Given the description of an element on the screen output the (x, y) to click on. 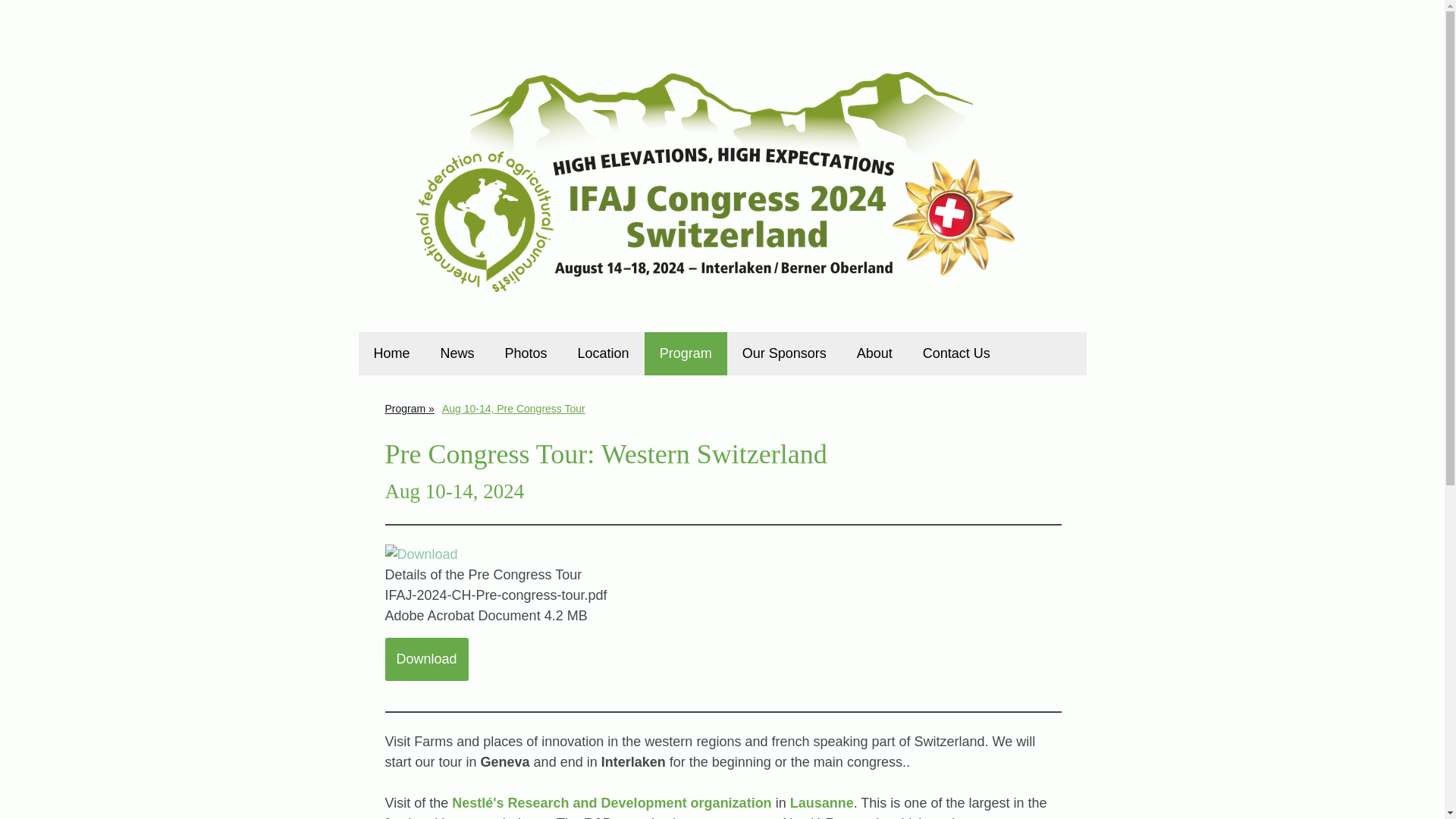
Contact Us (956, 353)
Download (426, 659)
About (874, 353)
News (457, 353)
Program (409, 408)
Lausanne (821, 802)
Home (391, 353)
Our Sponsors (783, 353)
Photos (525, 353)
Location (603, 353)
